Given the description of an element on the screen output the (x, y) to click on. 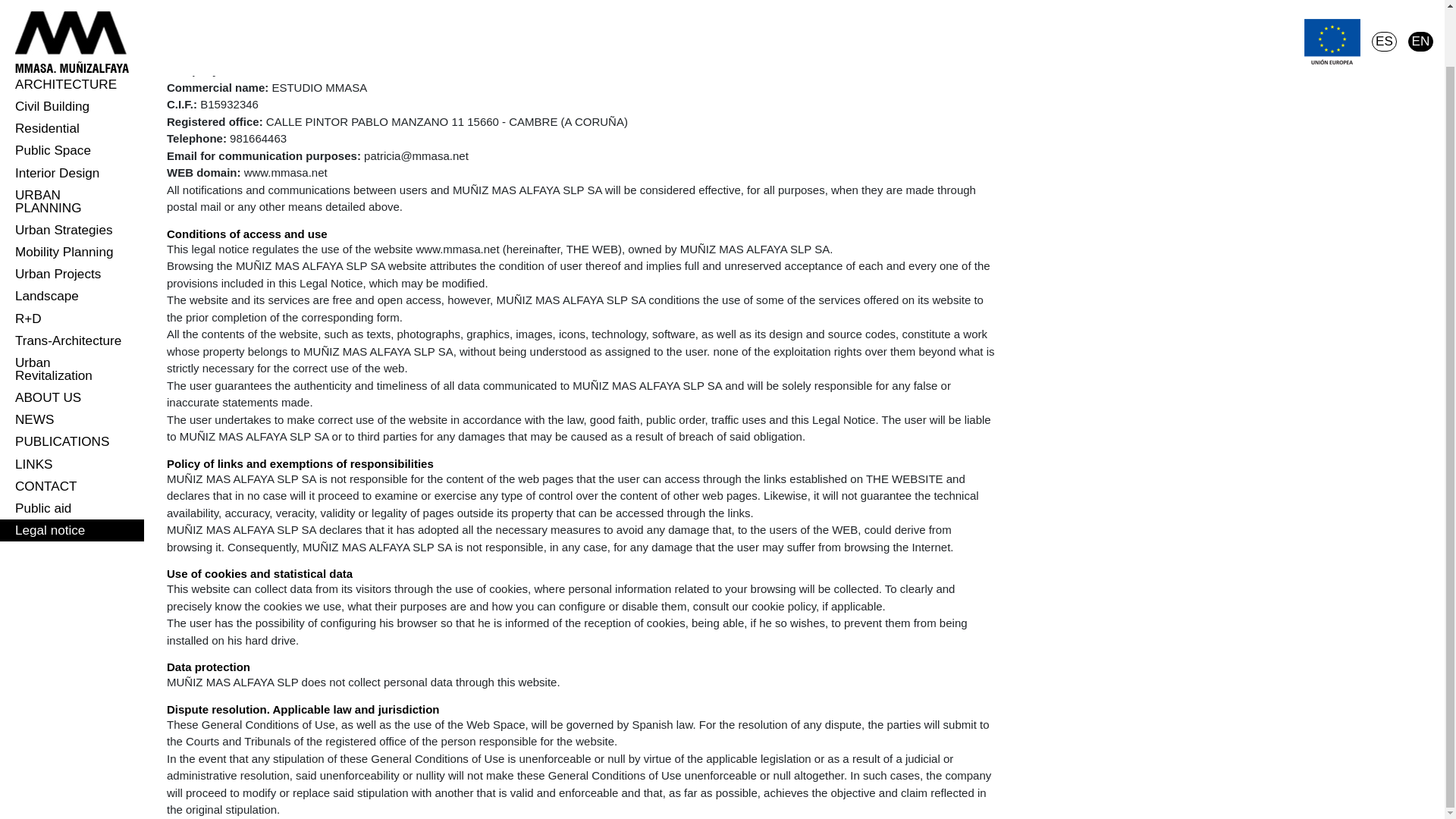
Public aid (72, 508)
Civil Building (72, 106)
Urban Revitalization (72, 369)
Urban Projects (72, 273)
Trans-Architecture (72, 341)
Mobility Planning (72, 251)
URBAN PLANNING (72, 201)
Interior Design (72, 173)
ABOUT US (72, 397)
Urban Strategies (72, 229)
